Given the description of an element on the screen output the (x, y) to click on. 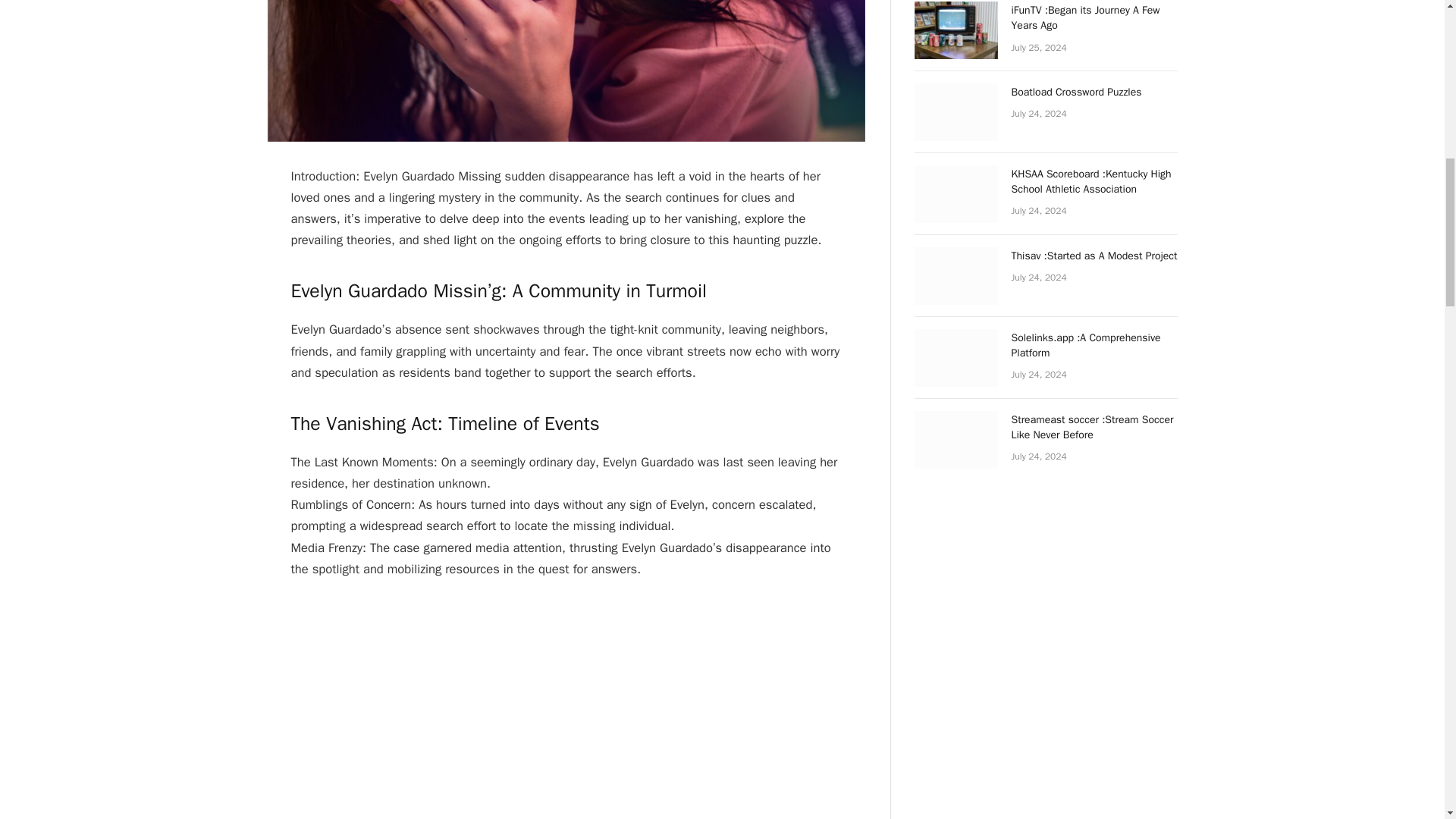
Advertisement (575, 709)
Evelyn Guardado Missing :Unraveling the Enigma (565, 70)
iFunTV :Began its Journey A Few Years Ago (1094, 18)
